Given the description of an element on the screen output the (x, y) to click on. 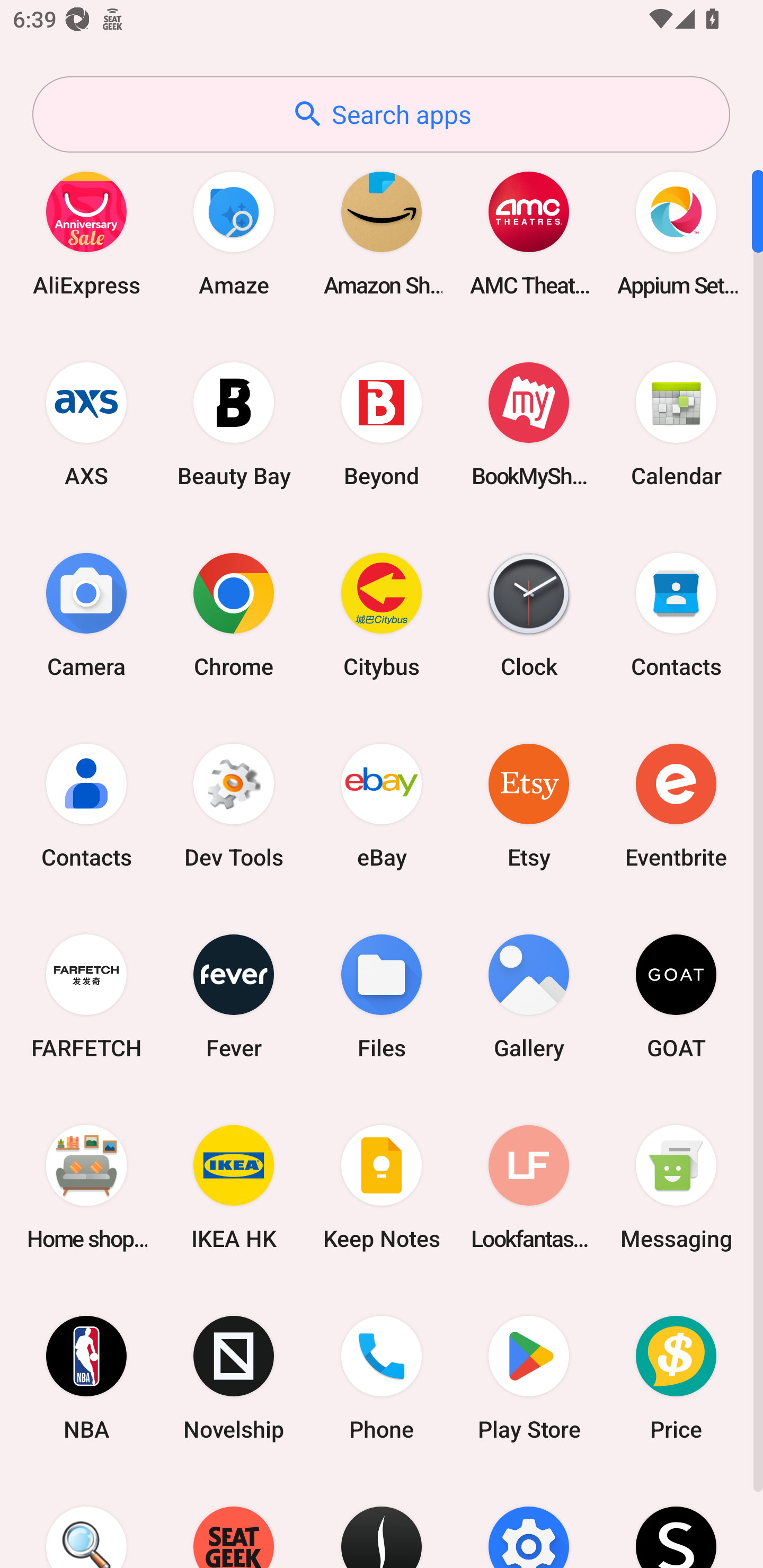
  Search apps (381, 114)
AliExpress (86, 233)
Amaze (233, 233)
Amazon Shopping (381, 233)
AMC Theatres (528, 233)
Appium Settings (676, 233)
AXS (86, 424)
Beauty Bay (233, 424)
Beyond (381, 424)
BookMyShow (528, 424)
Calendar (676, 424)
Camera (86, 614)
Chrome (233, 614)
Citybus (381, 614)
Clock (528, 614)
Contacts (676, 614)
Contacts (86, 805)
Dev Tools (233, 805)
eBay (381, 805)
Etsy (528, 805)
Eventbrite (676, 805)
FARFETCH (86, 996)
Fever (233, 996)
Files (381, 996)
Gallery (528, 996)
GOAT (676, 996)
Home shopping (86, 1186)
IKEA HK (233, 1186)
Keep Notes (381, 1186)
Lookfantastic (528, 1186)
Messaging (676, 1186)
NBA (86, 1377)
Novelship (233, 1377)
Phone (381, 1377)
Play Store (528, 1377)
Price (676, 1377)
